Given the description of an element on the screen output the (x, y) to click on. 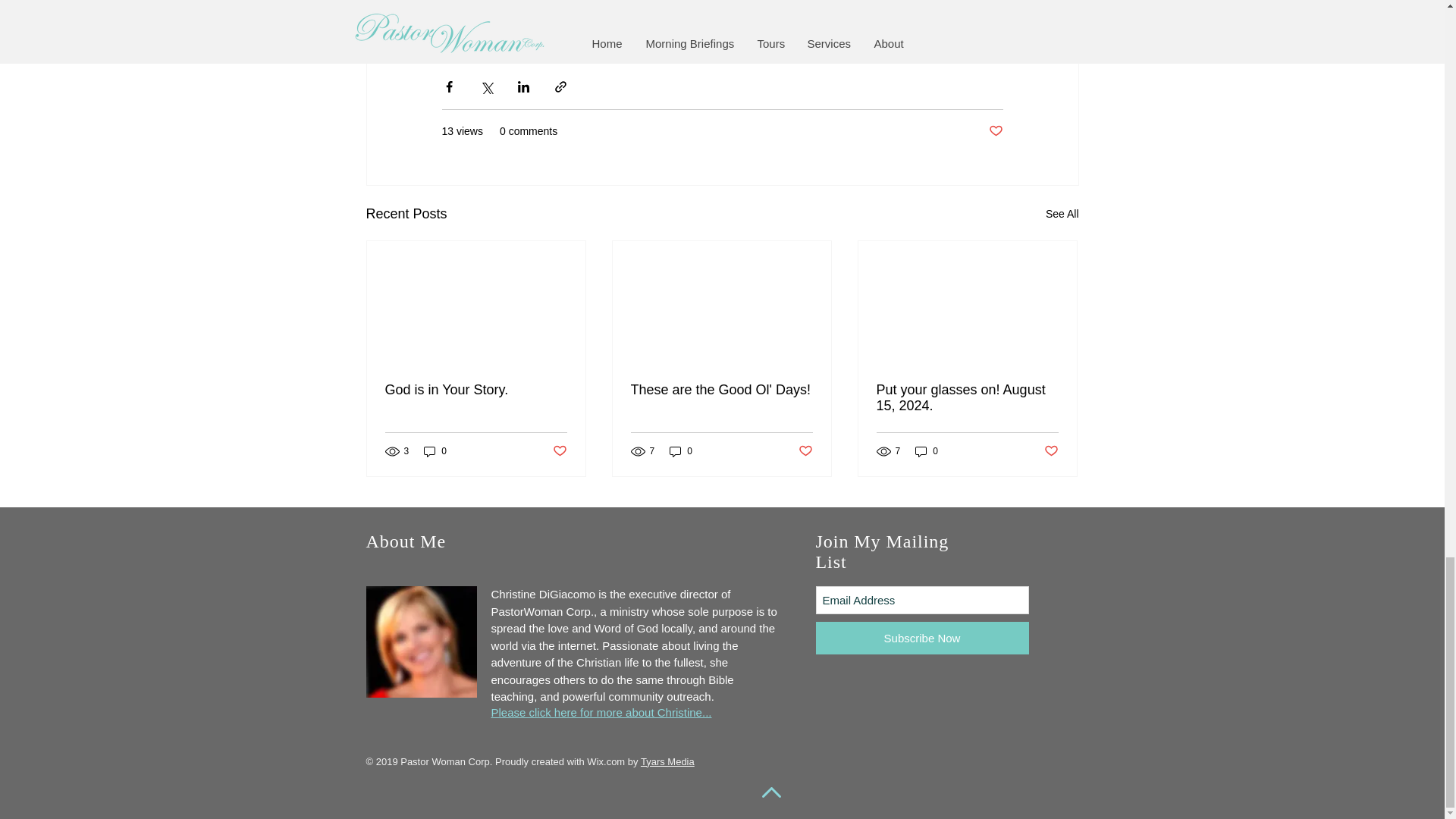
Post not marked as liked (995, 131)
0 (681, 450)
See All (1061, 214)
God is in Your Story. (476, 390)
Post not marked as liked (558, 451)
These are the Good Ol' Days! (721, 390)
0 (435, 450)
Post not marked as liked (804, 451)
Put your glasses on! August 15, 2024. (967, 398)
